Given the description of an element on the screen output the (x, y) to click on. 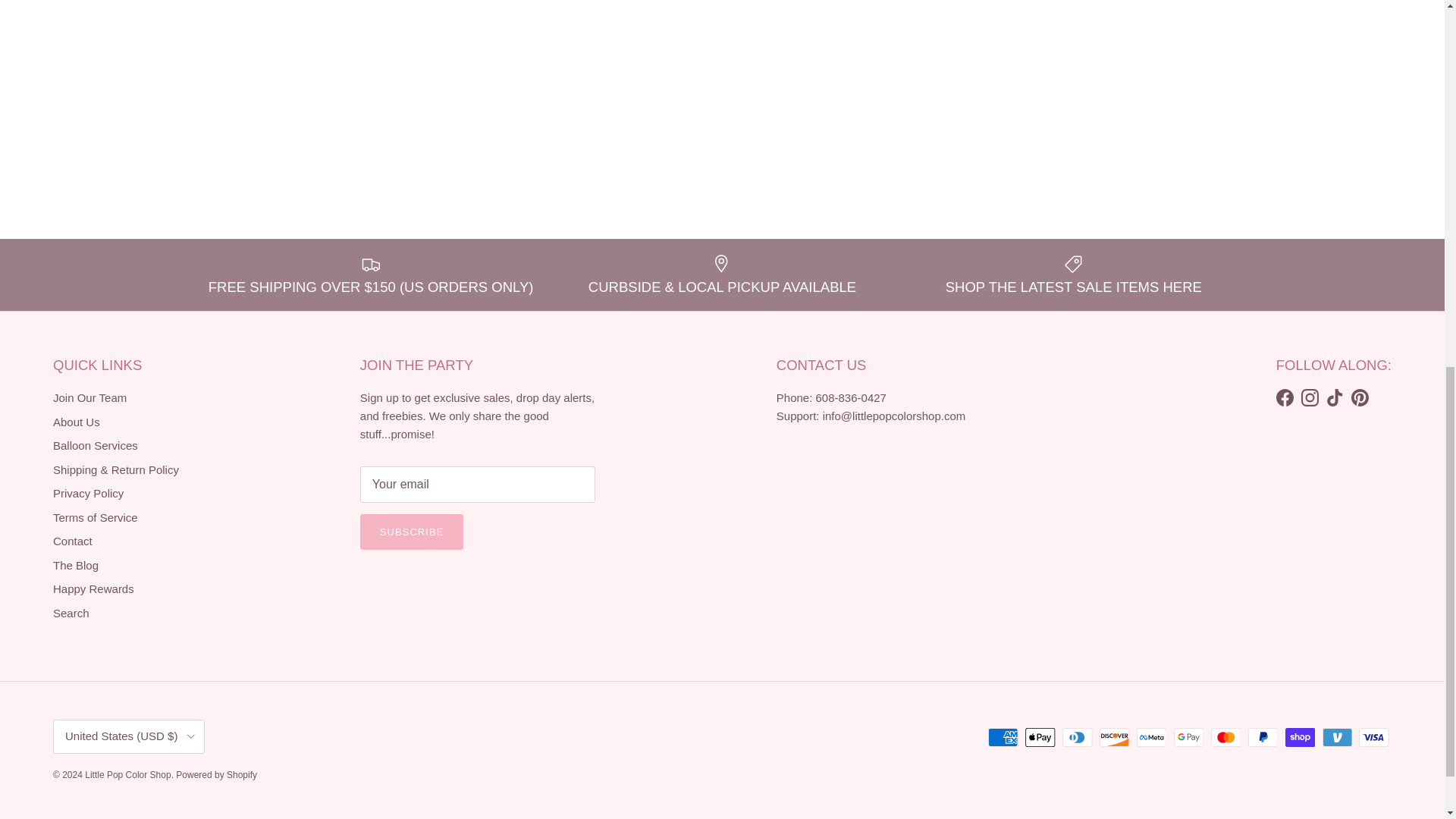
Visa (1373, 737)
Little Pop Color Shop on Facebook (1285, 397)
Apple Pay (1040, 737)
Mastercard (1225, 737)
Discover (1114, 737)
Shop Pay (1299, 737)
Google Pay (1188, 737)
Little Pop Color Shop on TikTok (1334, 397)
PayPal (1262, 737)
Little Pop Color Shop on Instagram (1310, 397)
Meta Pay (1151, 737)
Diners Club (1077, 737)
Little Pop Color Shop on Pinterest (1359, 397)
American Express (1002, 737)
Venmo (1337, 737)
